Given the description of an element on the screen output the (x, y) to click on. 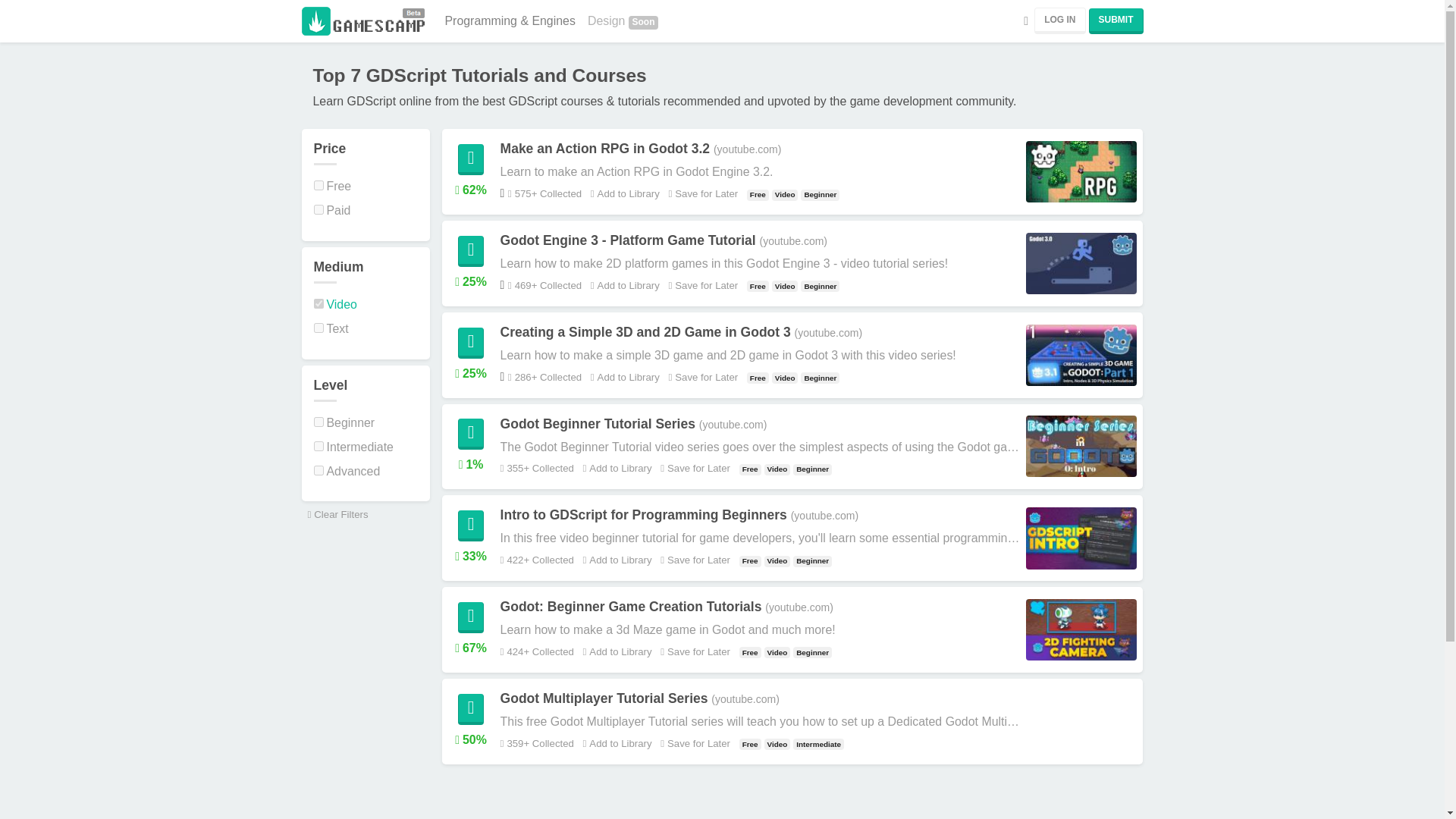
Design Soon (621, 20)
SUBMIT (1115, 21)
on (318, 446)
Add to Library (615, 468)
LOG IN (1058, 20)
on (318, 209)
LOG IN (1058, 20)
Paid (332, 210)
on (318, 421)
Intermediate (353, 446)
on (318, 470)
Video (335, 304)
Design Soon (621, 20)
Save for Later (700, 285)
Advanced (347, 471)
